Given the description of an element on the screen output the (x, y) to click on. 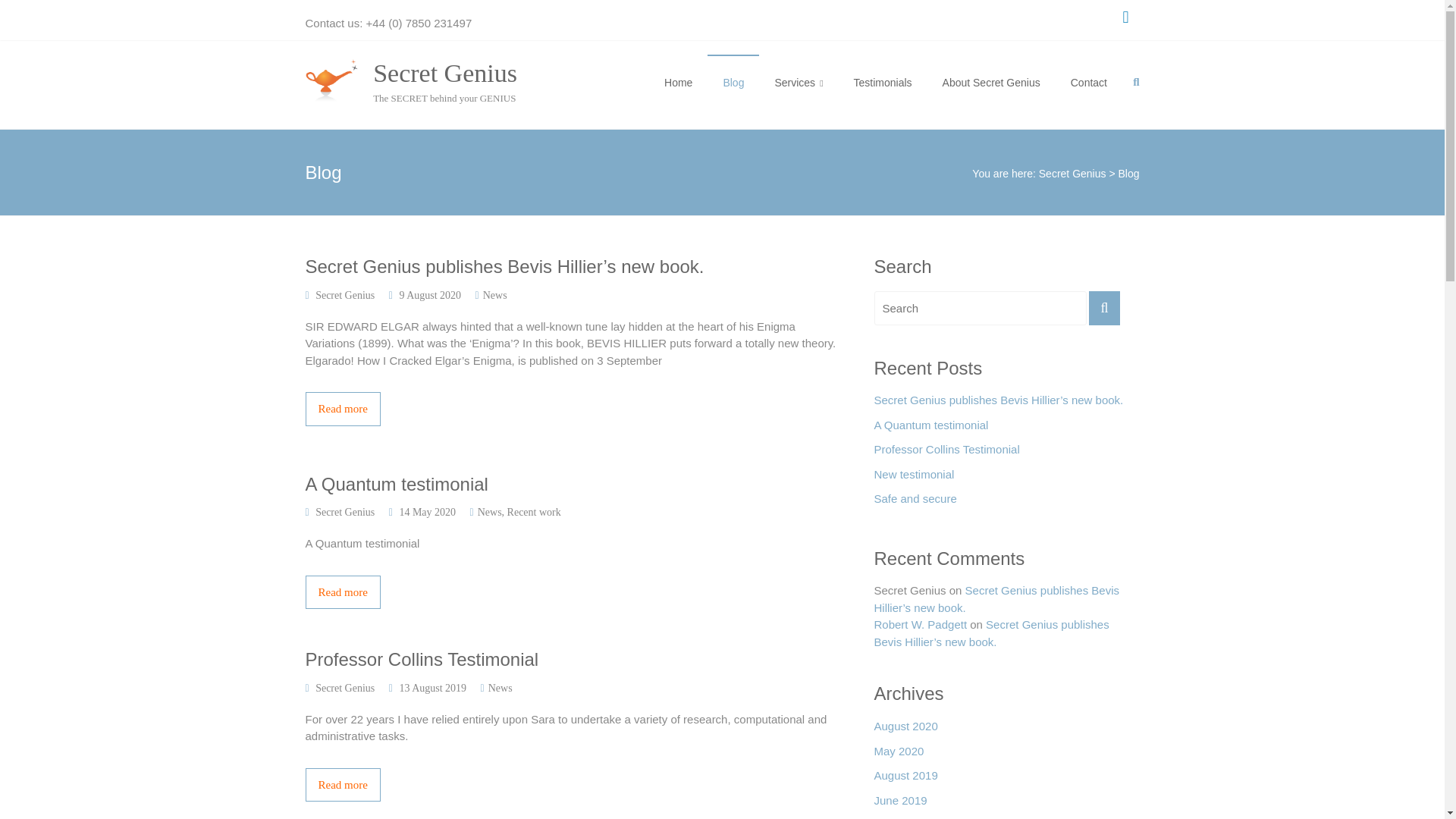
Recent work (533, 511)
About Secret Genius (991, 82)
Testimonials (882, 82)
Go to Secret Genius. (1072, 173)
News (494, 295)
Services (798, 82)
Secret Genius (344, 687)
12:16 pm (431, 687)
13 August 2019 (431, 687)
Secret Genius (444, 72)
9 August 2020 (429, 295)
News (499, 687)
News (489, 511)
Read more (573, 592)
Read more (573, 785)
